Given the description of an element on the screen output the (x, y) to click on. 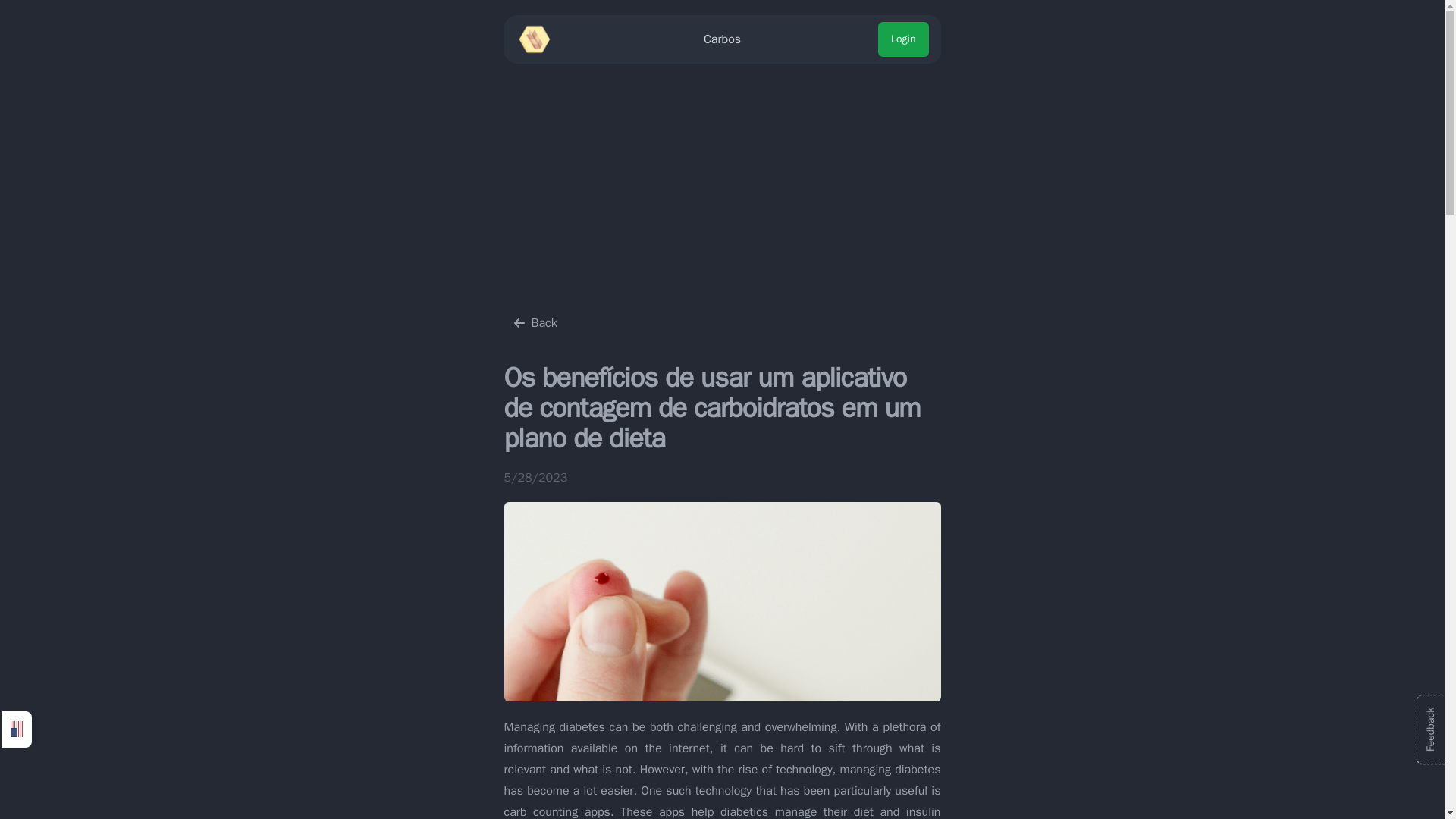
Back (534, 322)
Login (902, 39)
Carbos (721, 39)
